Given the description of an element on the screen output the (x, y) to click on. 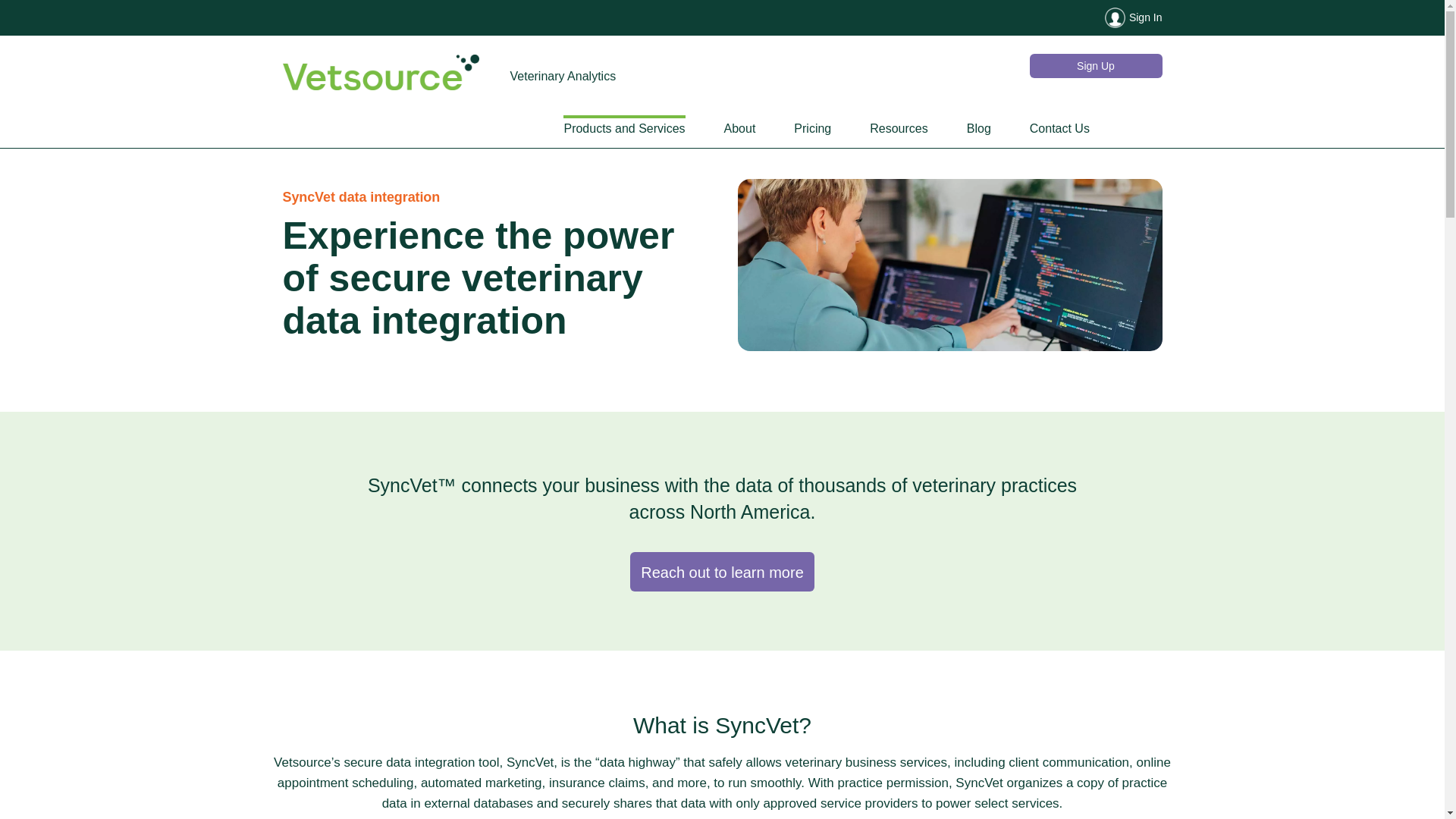
Sign In (721, 17)
Reach out to learn more (721, 571)
Search (1135, 128)
Pricing (812, 128)
Blog (978, 128)
About (739, 128)
Contact Us (1059, 128)
Products and Services (623, 128)
Sign Up (1095, 65)
Resources (898, 128)
